Given the description of an element on the screen output the (x, y) to click on. 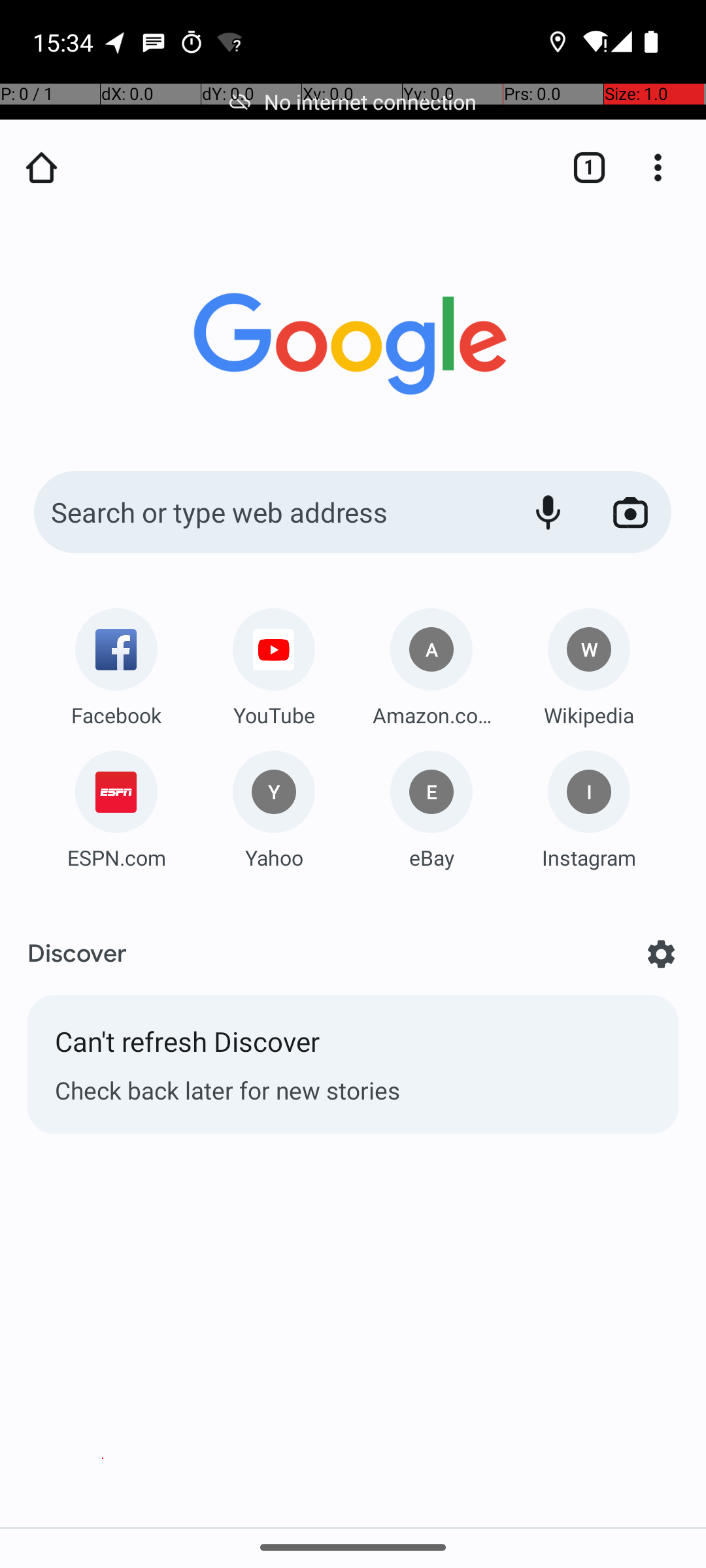
Can't refresh Discover Element type: android.widget.TextView (352, 1047)
Check back later for new stories Element type: android.widget.TextView (352, 1089)
